Given the description of an element on the screen output the (x, y) to click on. 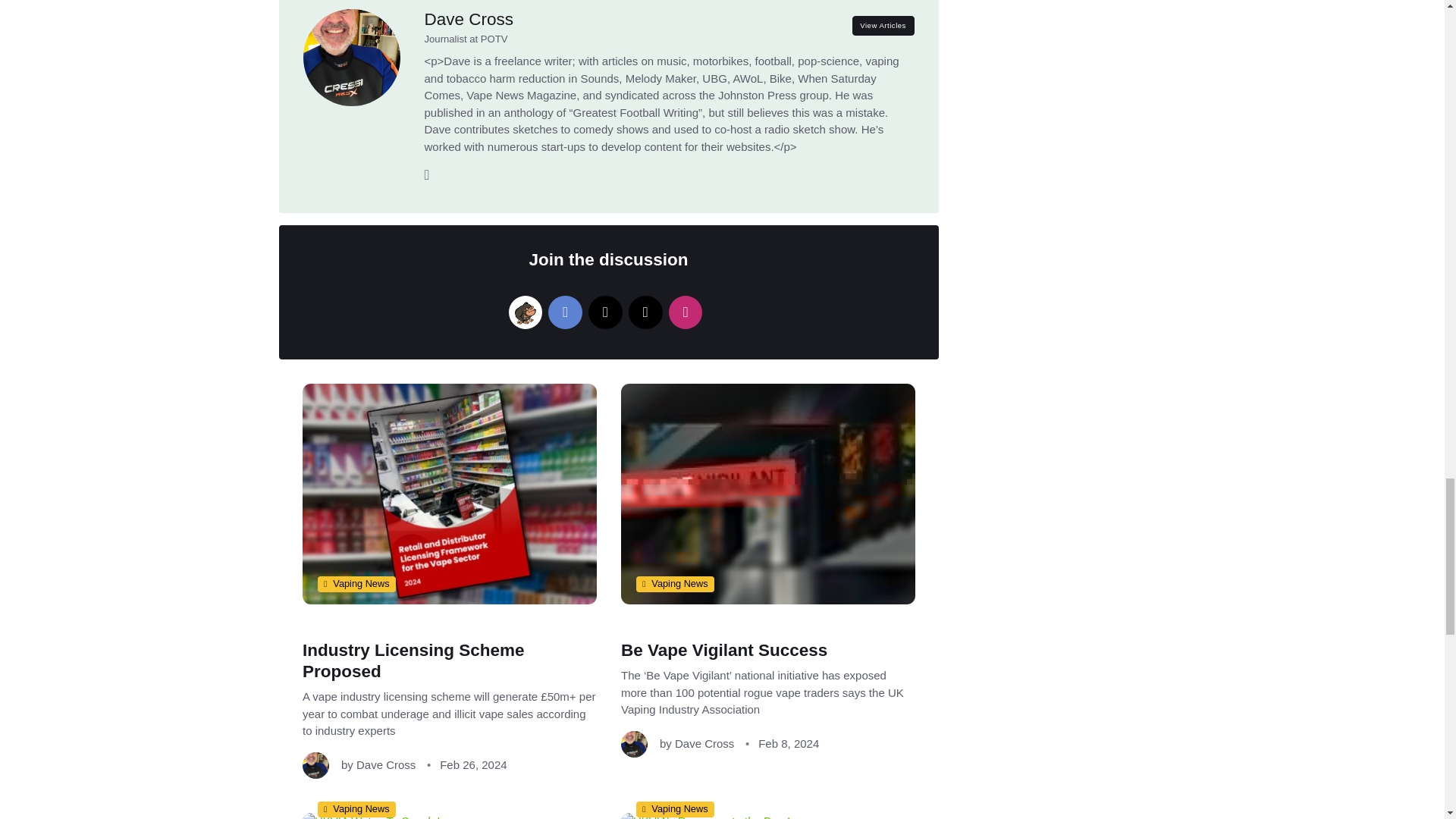
Industry Licensing Scheme Proposed (412, 661)
Dave Cross (469, 18)
Vaping News (355, 584)
View Articles (882, 25)
